Given the description of an element on the screen output the (x, y) to click on. 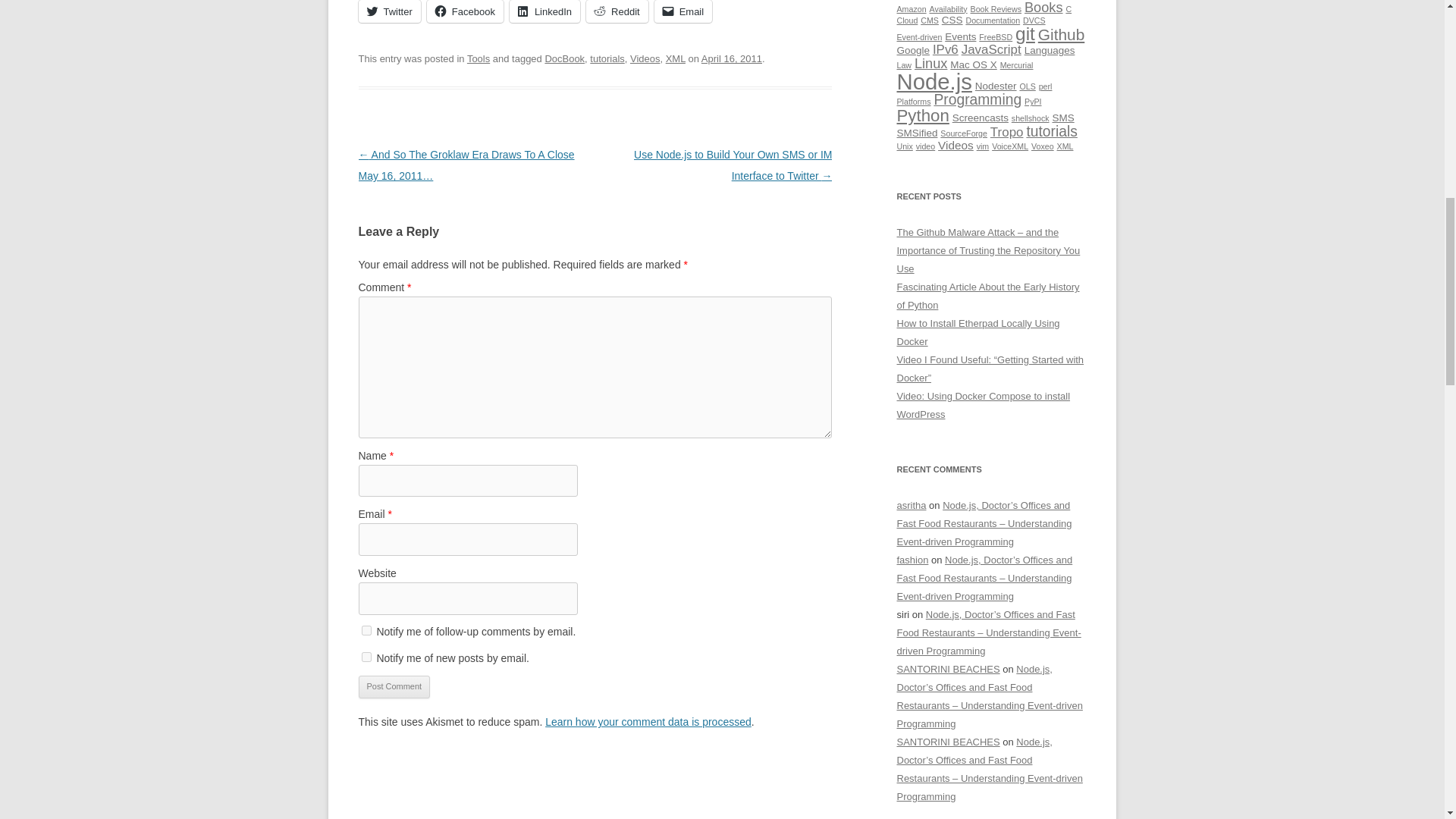
April 16, 2011 (731, 58)
Learn how your comment data is processed (647, 721)
Post Comment (393, 686)
tutorials (606, 58)
Post Comment (393, 686)
Facebook (464, 11)
Twitter (389, 11)
subscribe (366, 656)
subscribe (366, 630)
Click to share on Twitter (389, 11)
Click to share on LinkedIn (544, 11)
Reddit (616, 11)
DocBook (564, 58)
Click to email a link to a friend (683, 11)
LinkedIn (544, 11)
